Given the description of an element on the screen output the (x, y) to click on. 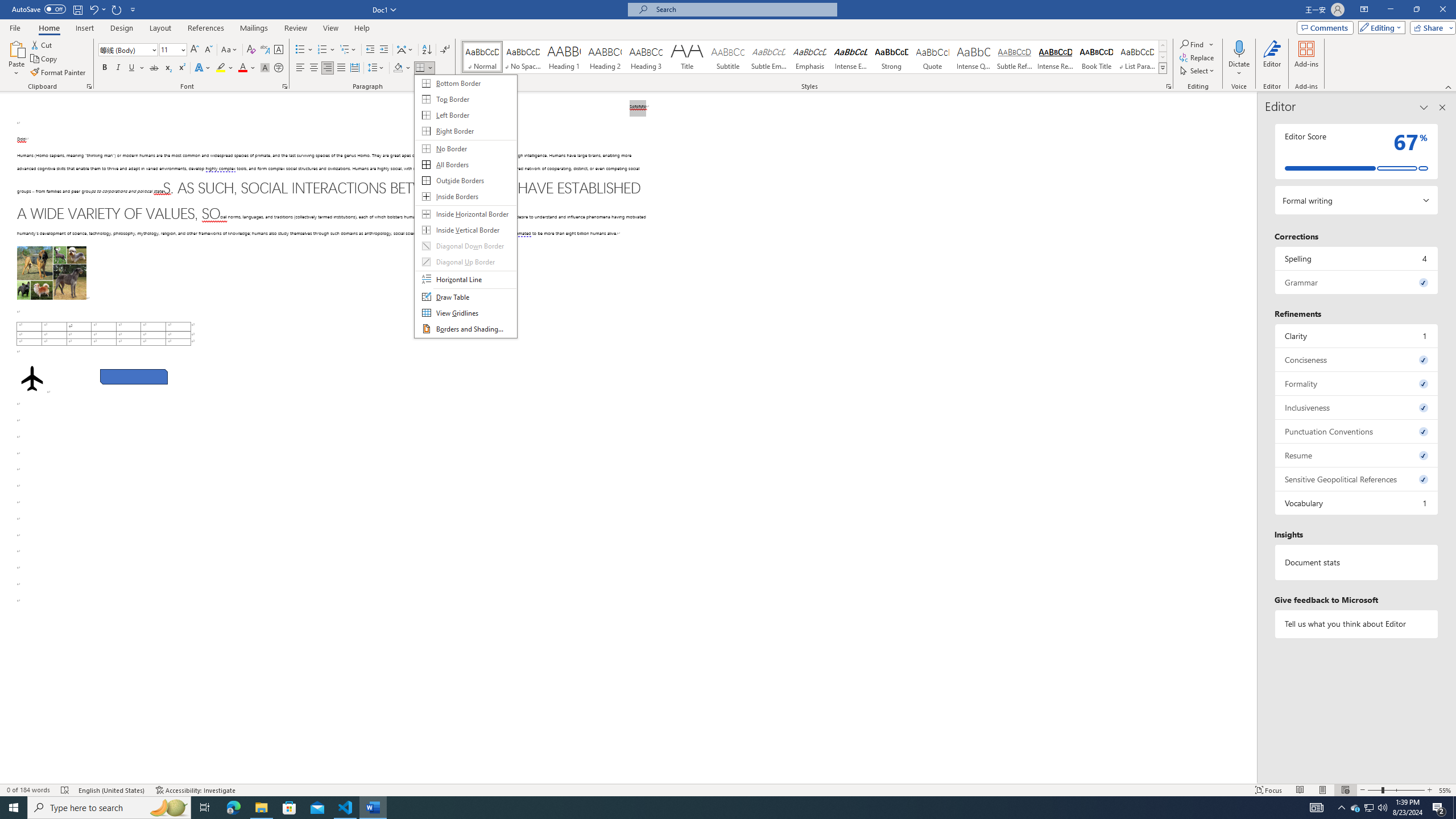
Class: MsoCommandBar (728, 789)
Zoom In (1430, 790)
Underline (136, 67)
Office Clipboard... (88, 85)
System (6, 6)
Character Shading (264, 67)
Font Color Red (241, 67)
Class: NetUIScrollBar (1251, 437)
Comments (1325, 27)
Home (48, 28)
Grammar, 0 issues. Press space or enter to review items. (1356, 282)
Search highlights icon opens search home window (167, 807)
Justify (340, 67)
